Given the description of an element on the screen output the (x, y) to click on. 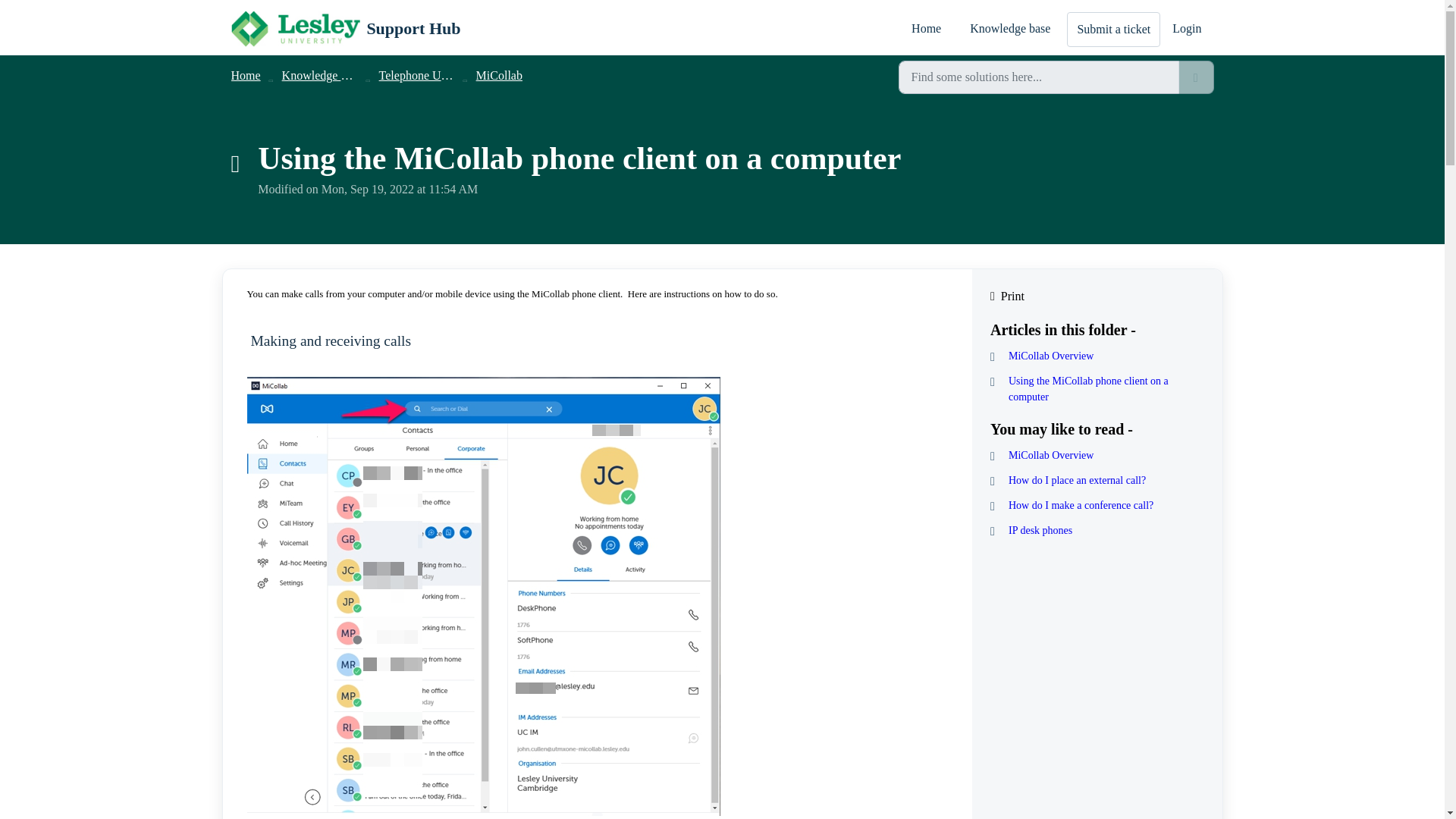
Knowledge base (1009, 28)
Support Hub (413, 28)
Knowledge base (322, 74)
MiCollab Overview (1097, 355)
MiCollab (499, 74)
Print (1097, 296)
MiCollab Overview (1097, 455)
Home (925, 28)
How do I make a conference call? (1097, 505)
Telephone User Guide (432, 74)
Home (245, 74)
How do I place an external call? (1097, 480)
Submit a ticket (1113, 29)
Support Hub (345, 28)
Login (1189, 28)
